Given the description of an element on the screen output the (x, y) to click on. 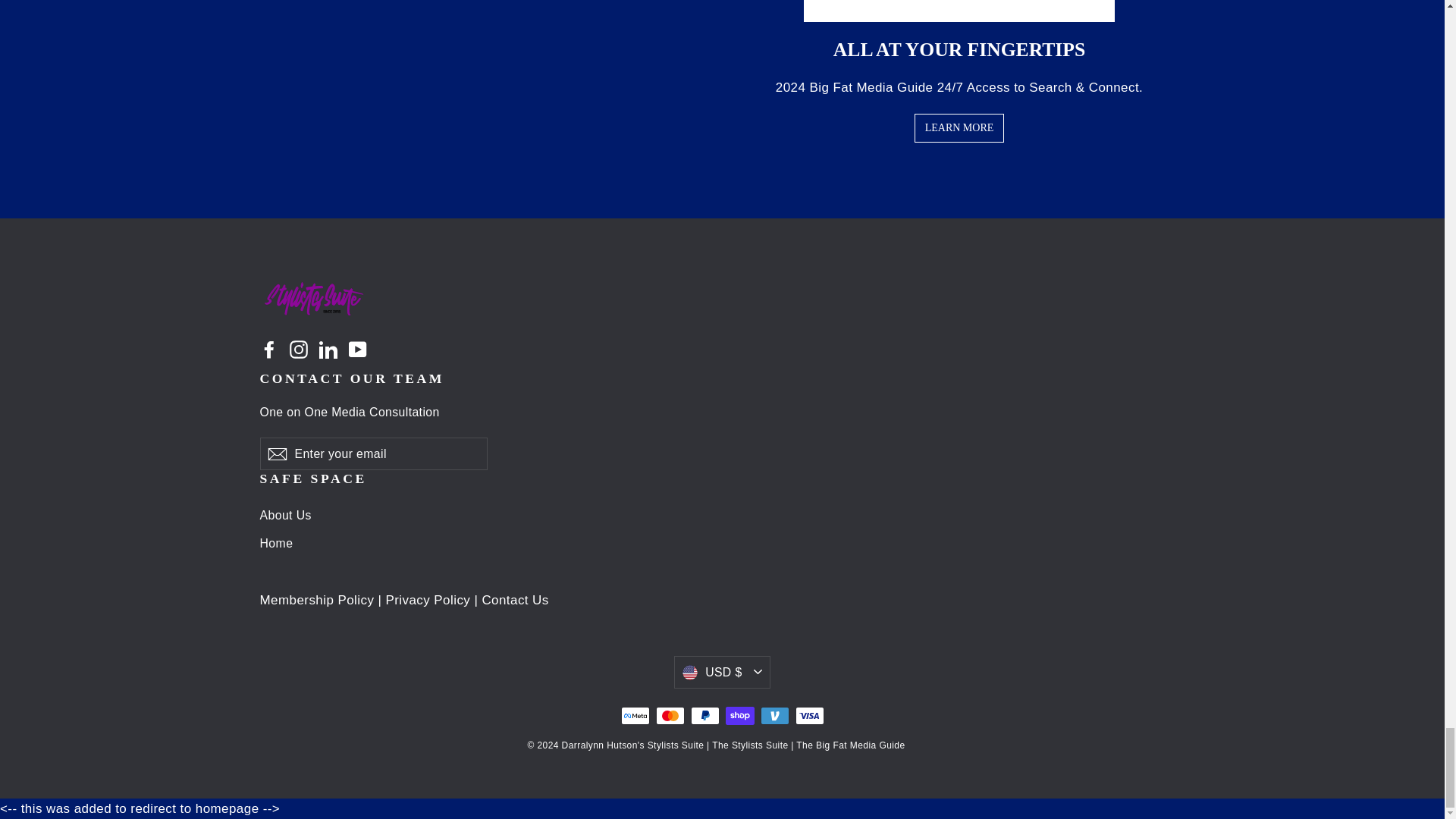
Venmo (774, 714)
Darralynn Hutson's Stylists Suite on Facebook (268, 348)
Darralynn Hutson's Stylists Suite on Instagram (298, 348)
Shop Pay (739, 714)
Darralynn Hutson's Stylists Suite on YouTube (357, 348)
Darralynn Hutson's Stylists Suite on LinkedIn (327, 348)
Mastercard (669, 714)
Visa (809, 714)
PayPal (704, 714)
Meta Pay (634, 714)
